Given the description of an element on the screen output the (x, y) to click on. 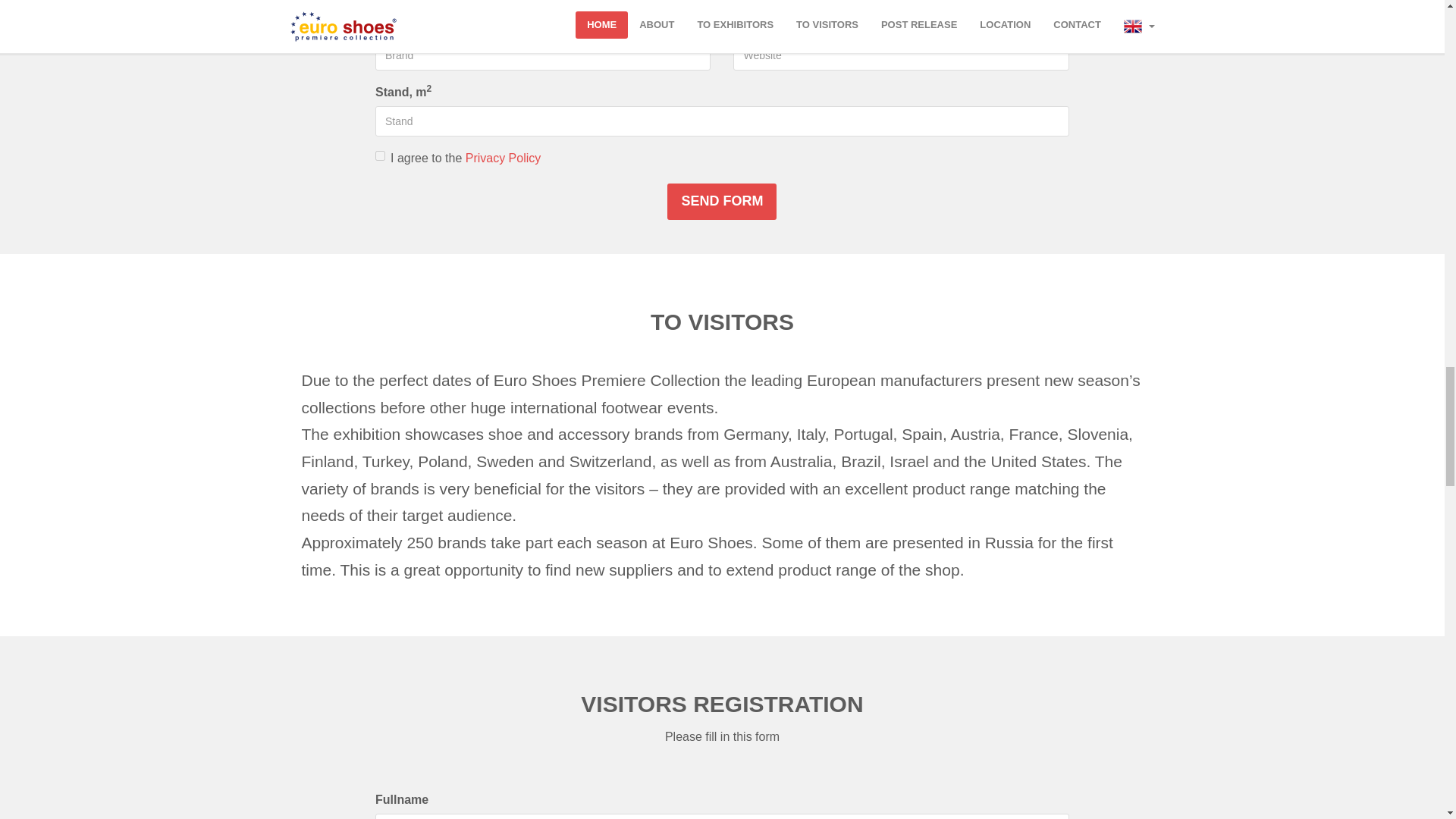
SEND FORM (721, 201)
on (380, 155)
Privacy Policy (503, 157)
